Given the description of an element on the screen output the (x, y) to click on. 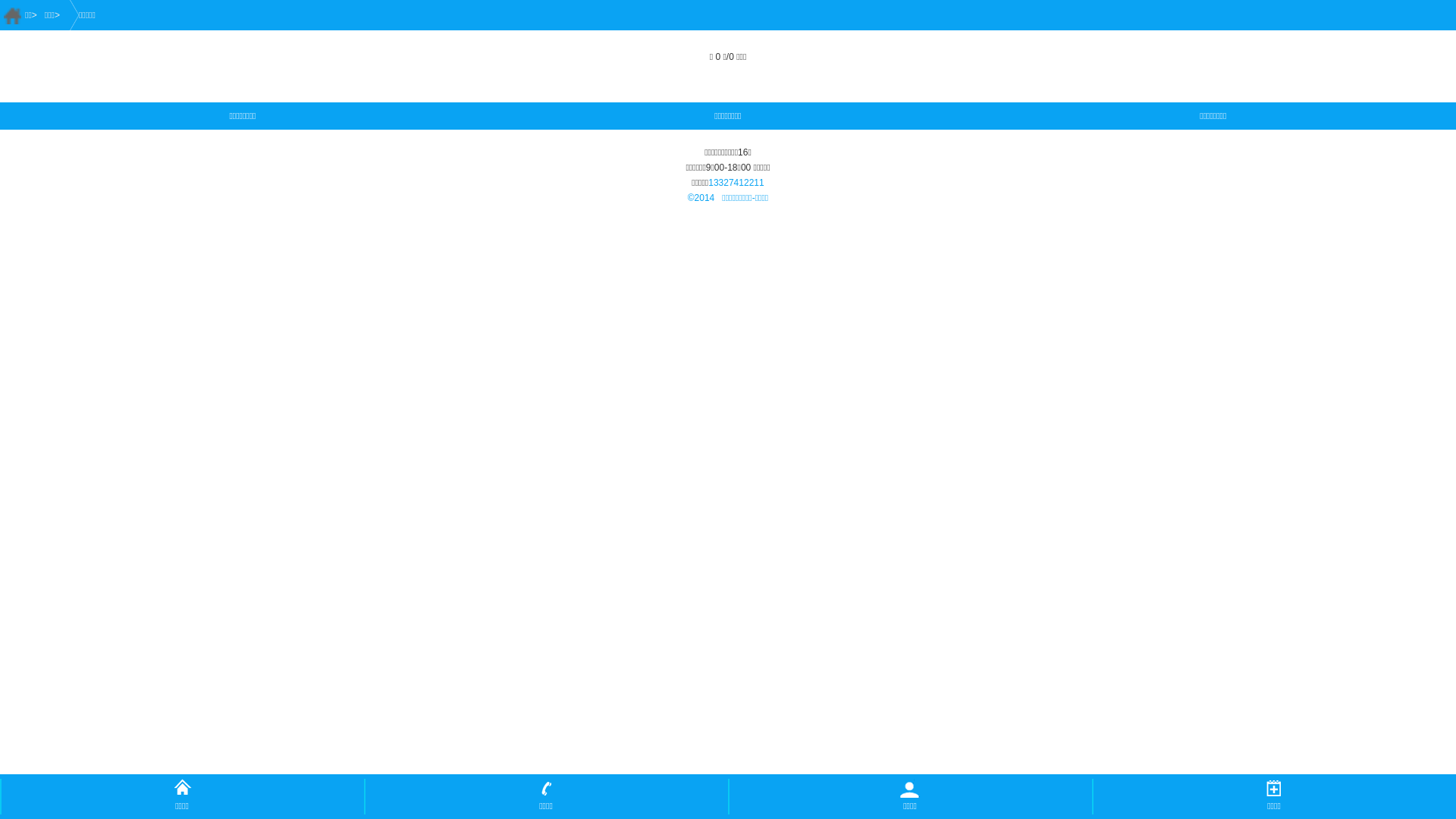
13327412211 Element type: text (735, 182)
